Given the description of an element on the screen output the (x, y) to click on. 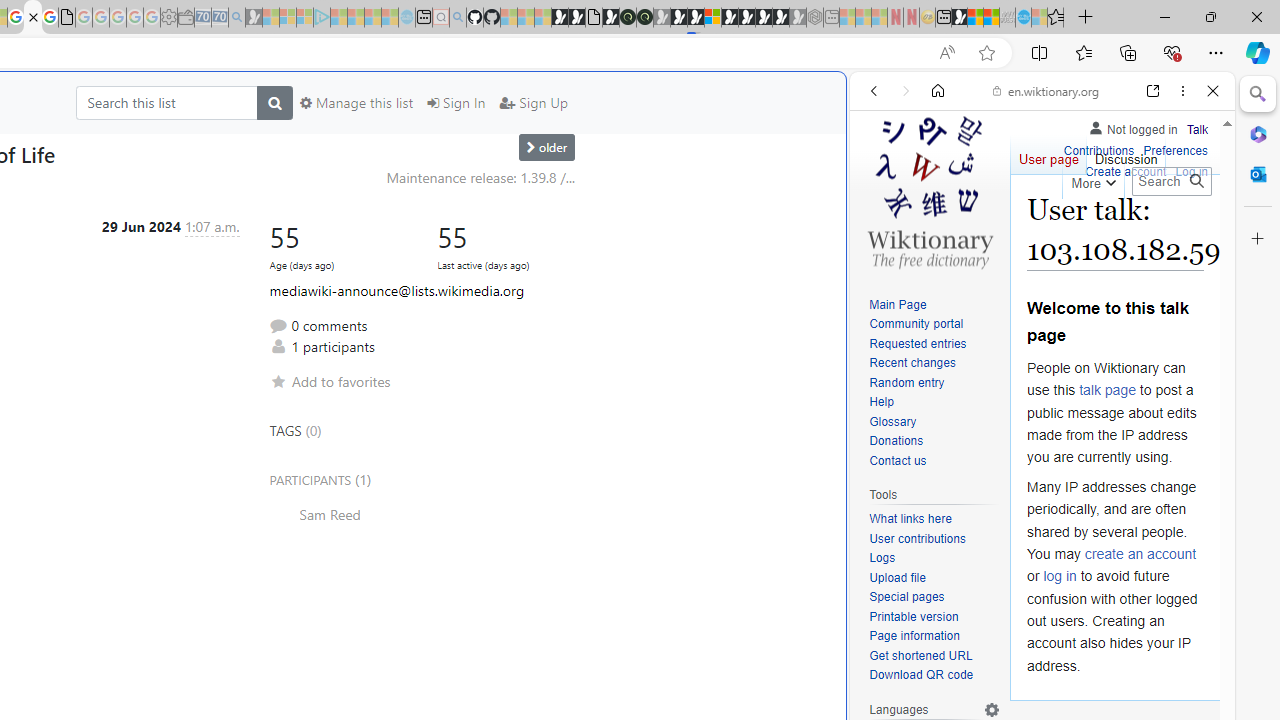
Sam Reed (421, 514)
Contributions (1098, 148)
Random entry (934, 382)
create an account (1140, 553)
